Given the description of an element on the screen output the (x, y) to click on. 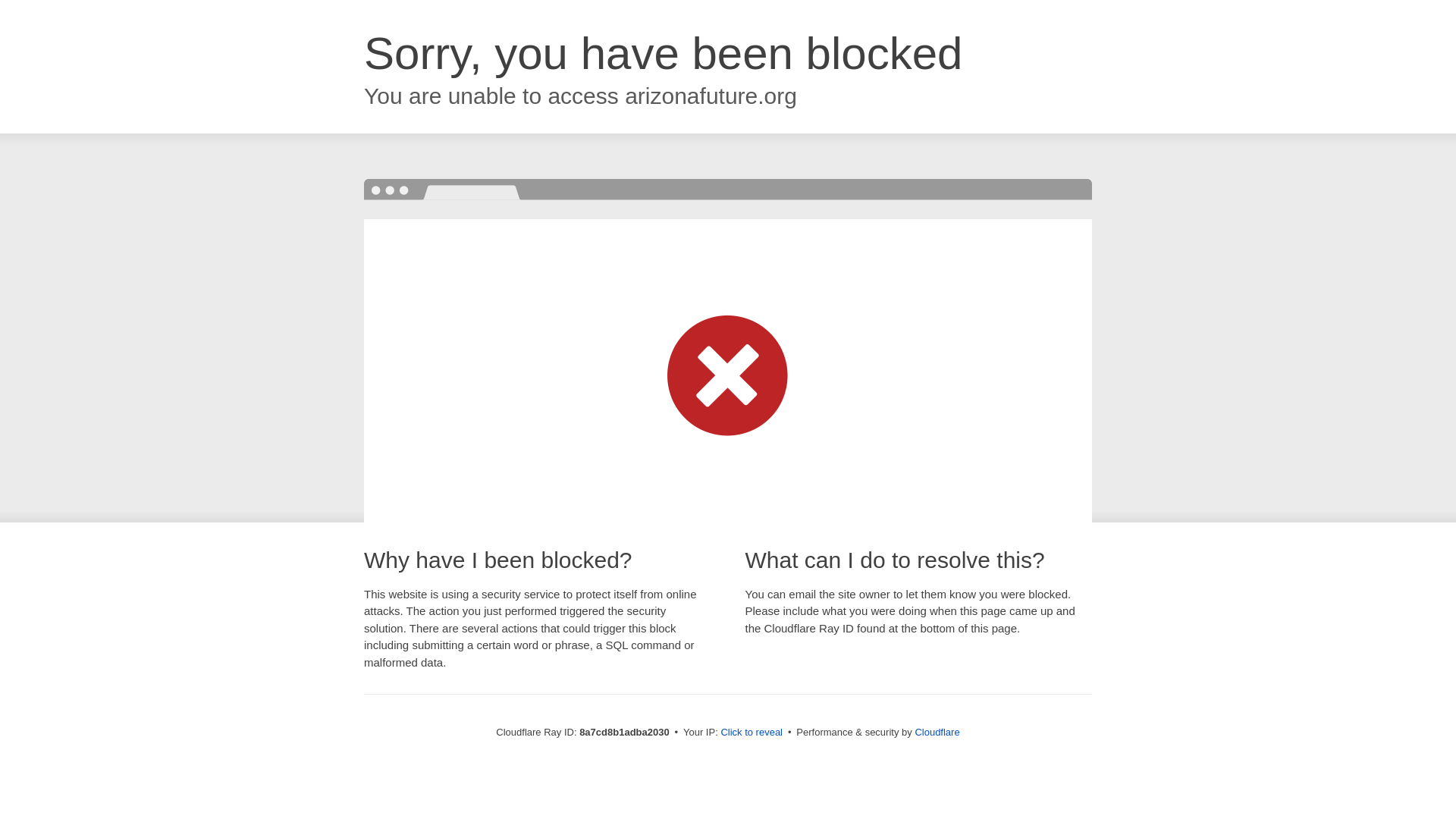
Cloudflare (936, 731)
Click to reveal (751, 732)
